Given the description of an element on the screen output the (x, y) to click on. 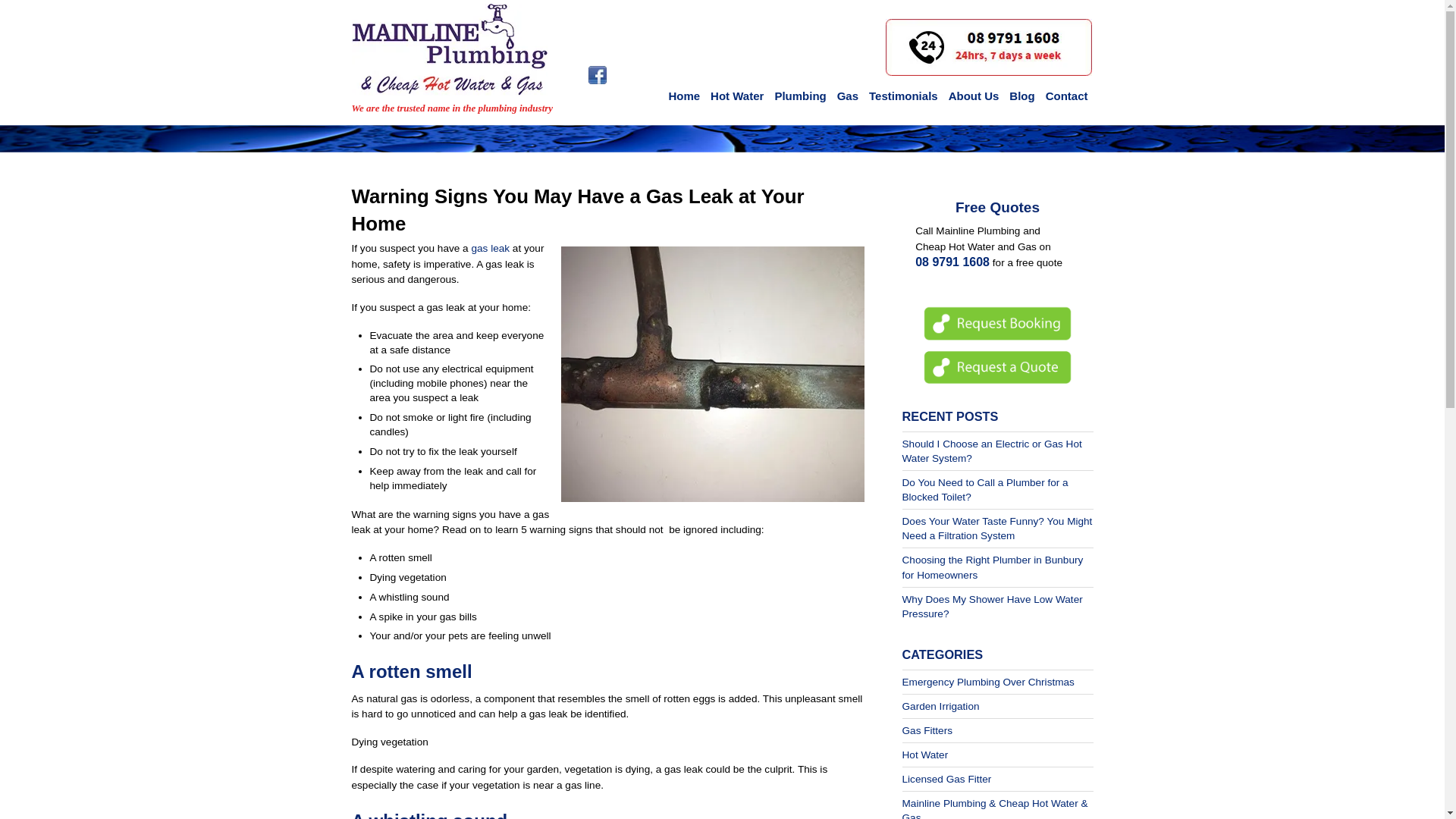
Testimonials (903, 95)
Hot Water (737, 95)
gas leak (489, 247)
Garden Irrigation (940, 706)
Contact (1066, 95)
Licensed Gas Fitter (946, 778)
Mainline Plumbing (449, 49)
Emergency Plumbing Over Christmas (988, 681)
Hot Water (925, 754)
Should I Choose an Electric or Gas Hot Water System? (991, 451)
